Given the description of an element on the screen output the (x, y) to click on. 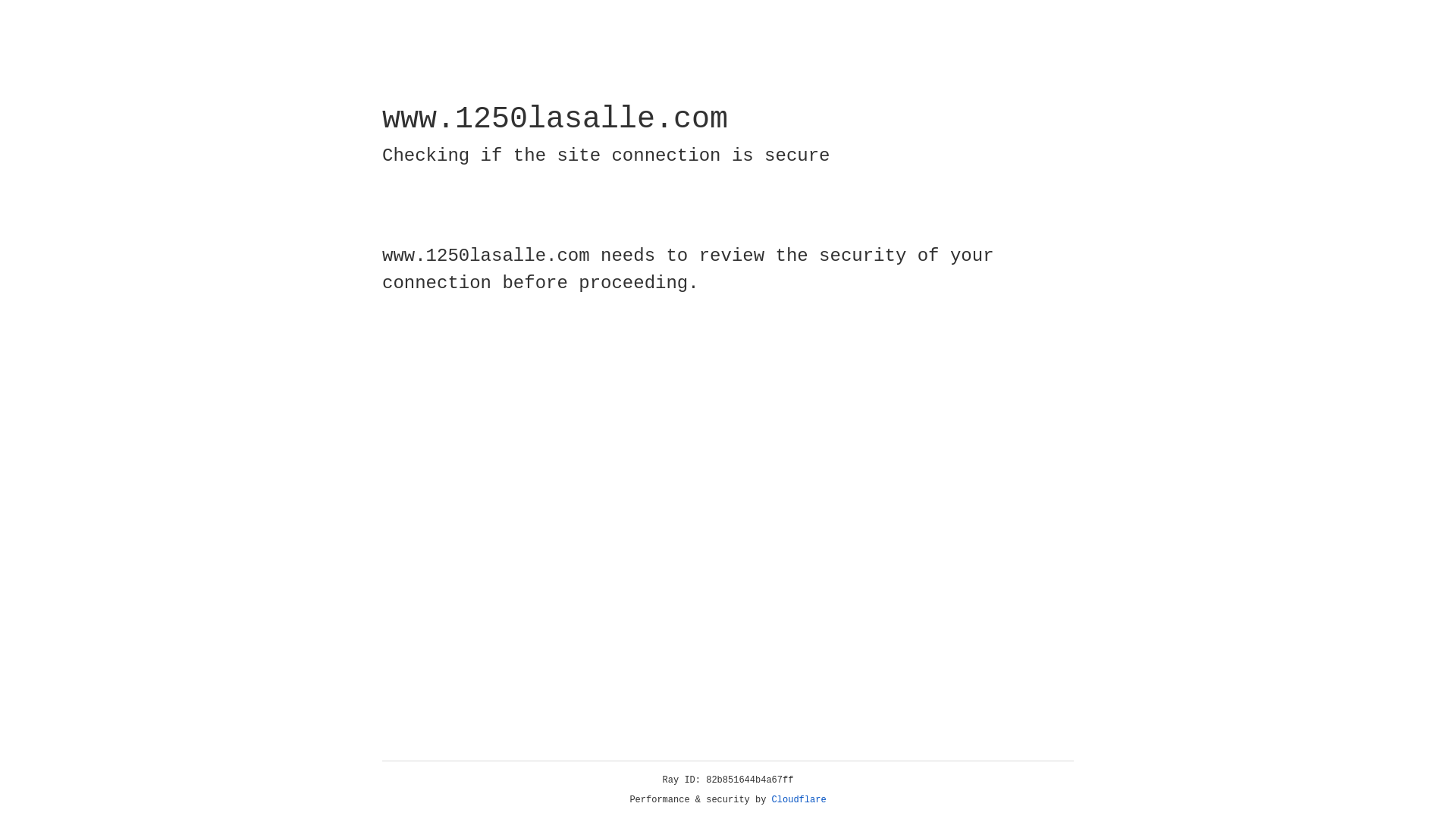
Cloudflare Element type: text (798, 799)
